Given the description of an element on the screen output the (x, y) to click on. 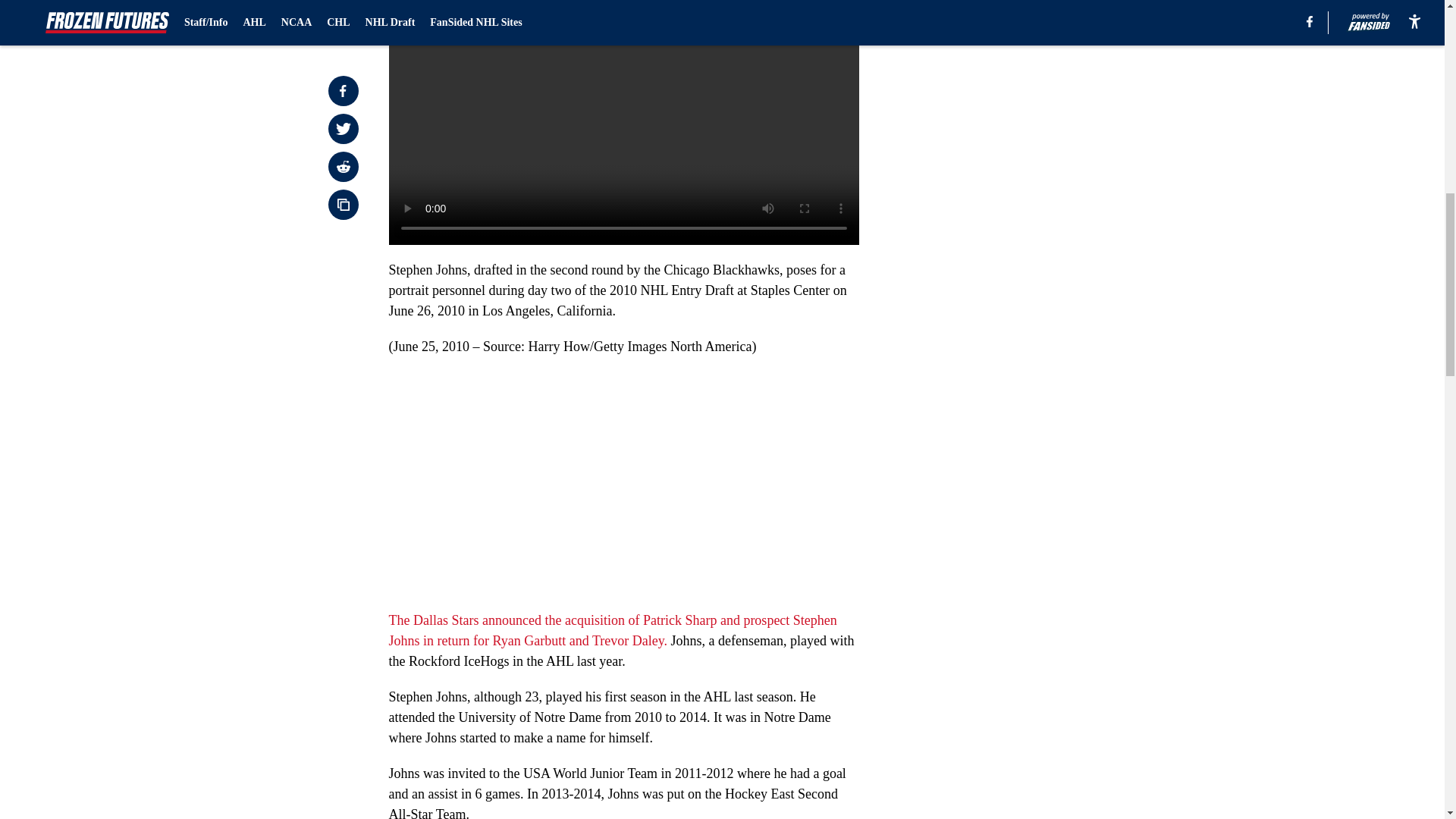
3rd party ad content (1047, 84)
3rd party ad content (1047, 294)
